Given the description of an element on the screen output the (x, y) to click on. 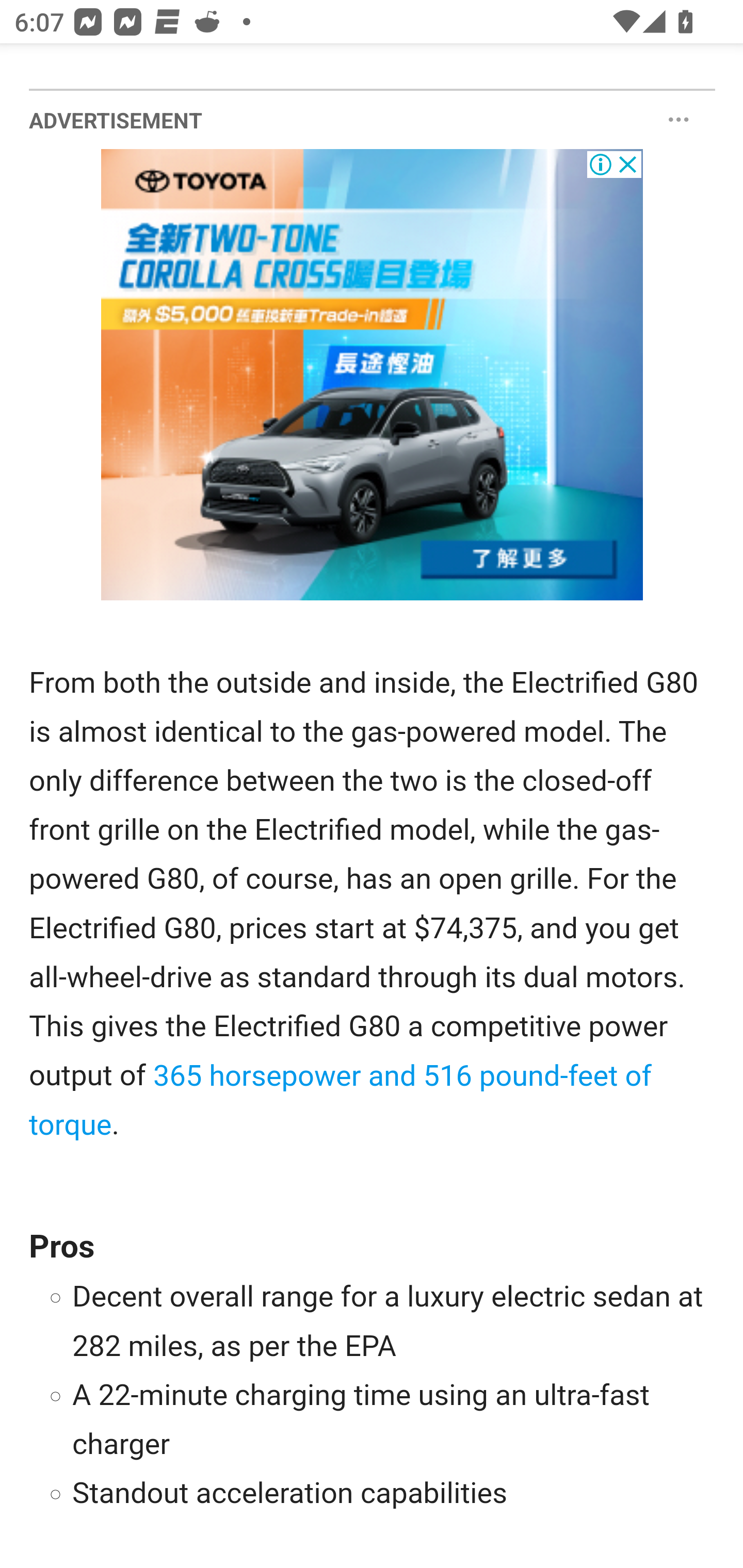
365 horsepower and 516 pound-feet of torque (339, 1100)
